Given the description of an element on the screen output the (x, y) to click on. 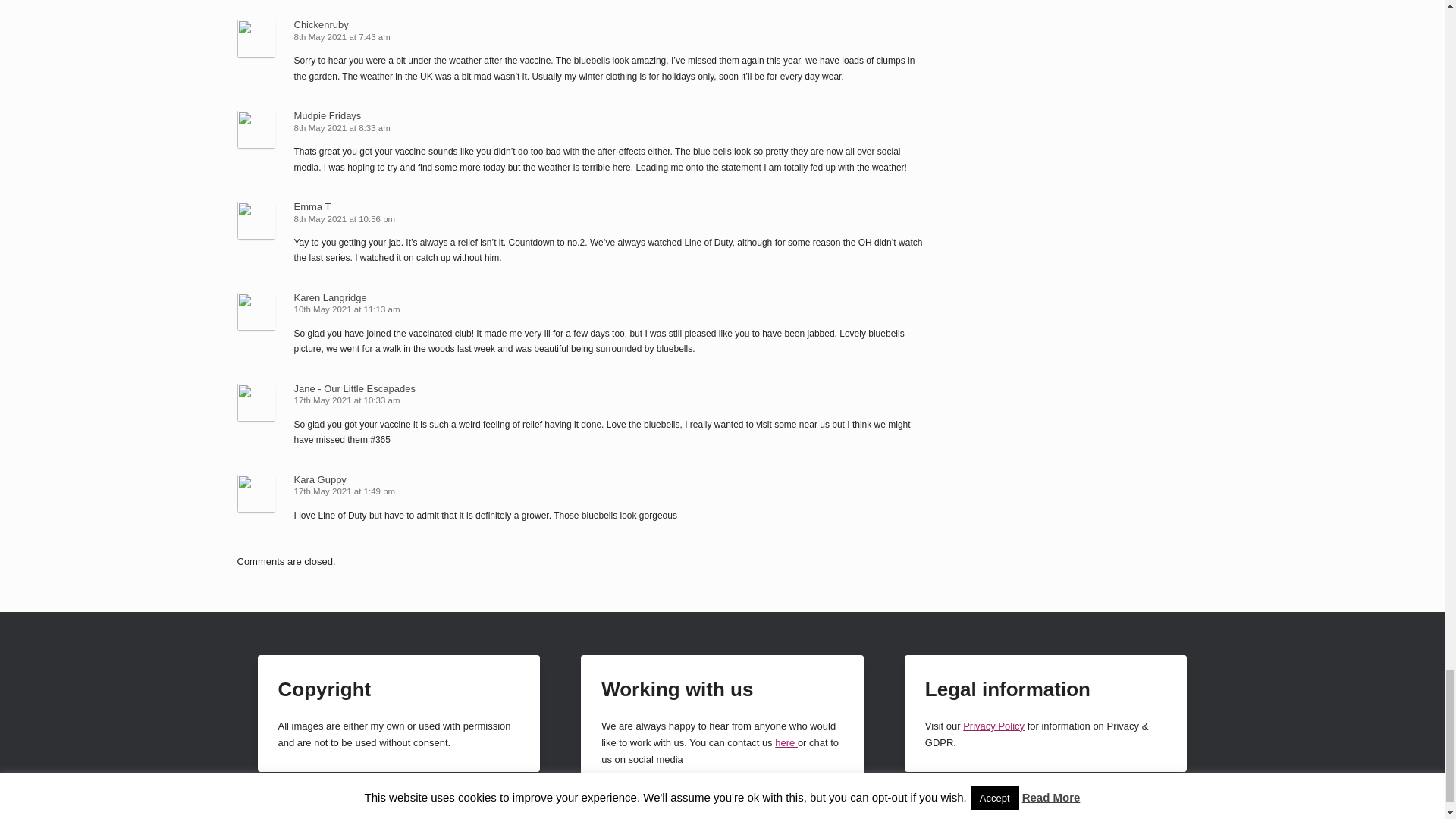
8th May 2021 at 7:43 am (343, 36)
Chickenruby (321, 24)
